Given the description of an element on the screen output the (x, y) to click on. 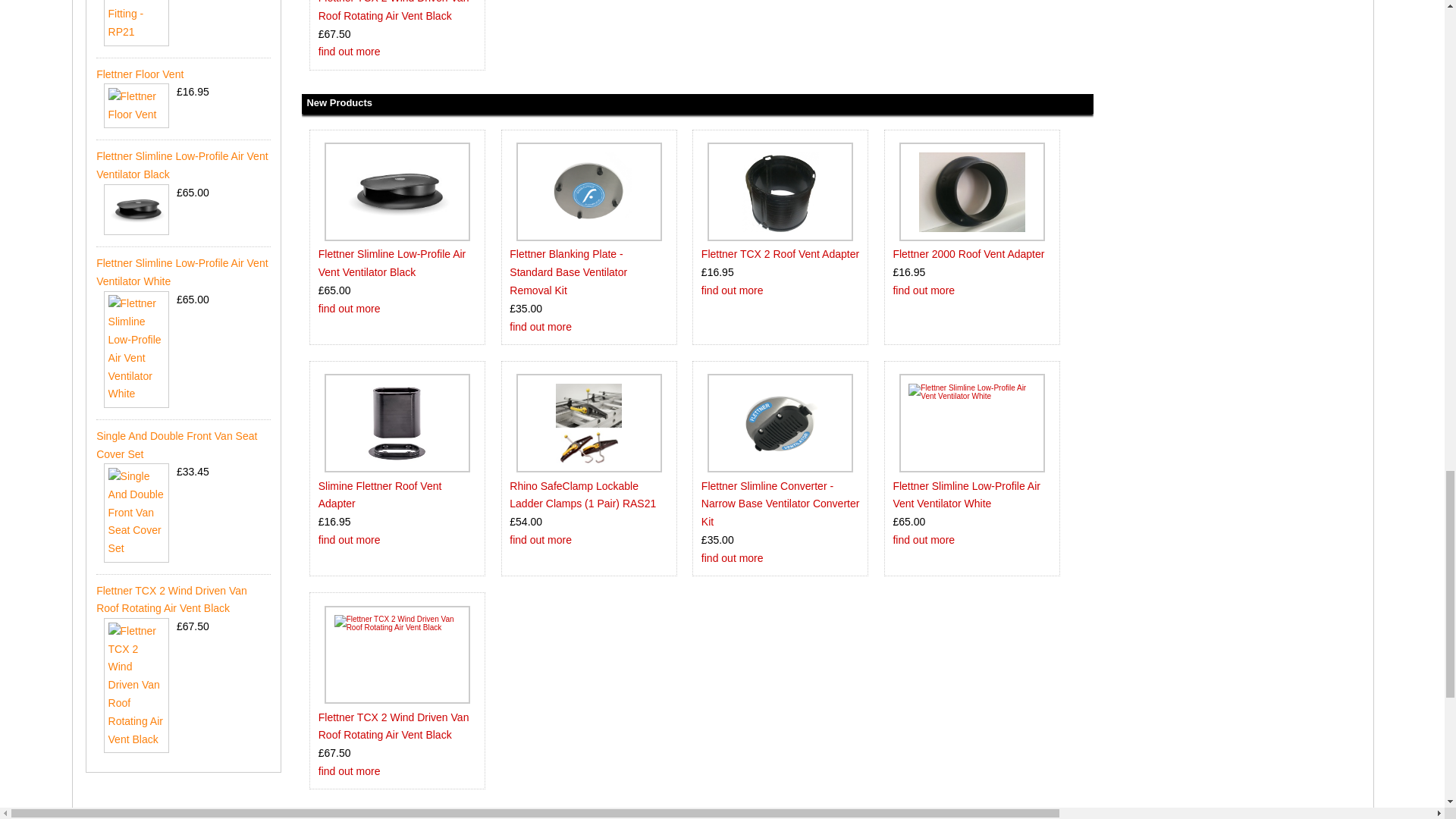
Flettner 2000 Roof Vent Adapter (971, 191)
Slimine Flettner Roof Vent Adapter (396, 423)
Flettner Slimline Low-Profile Air Vent Ventilator White (971, 423)
Flettner TCX 2 Roof Vent Adapter (779, 191)
Flettner Slimline Low-Profile Air Vent Ventilator Black (396, 191)
